Given the description of an element on the screen output the (x, y) to click on. 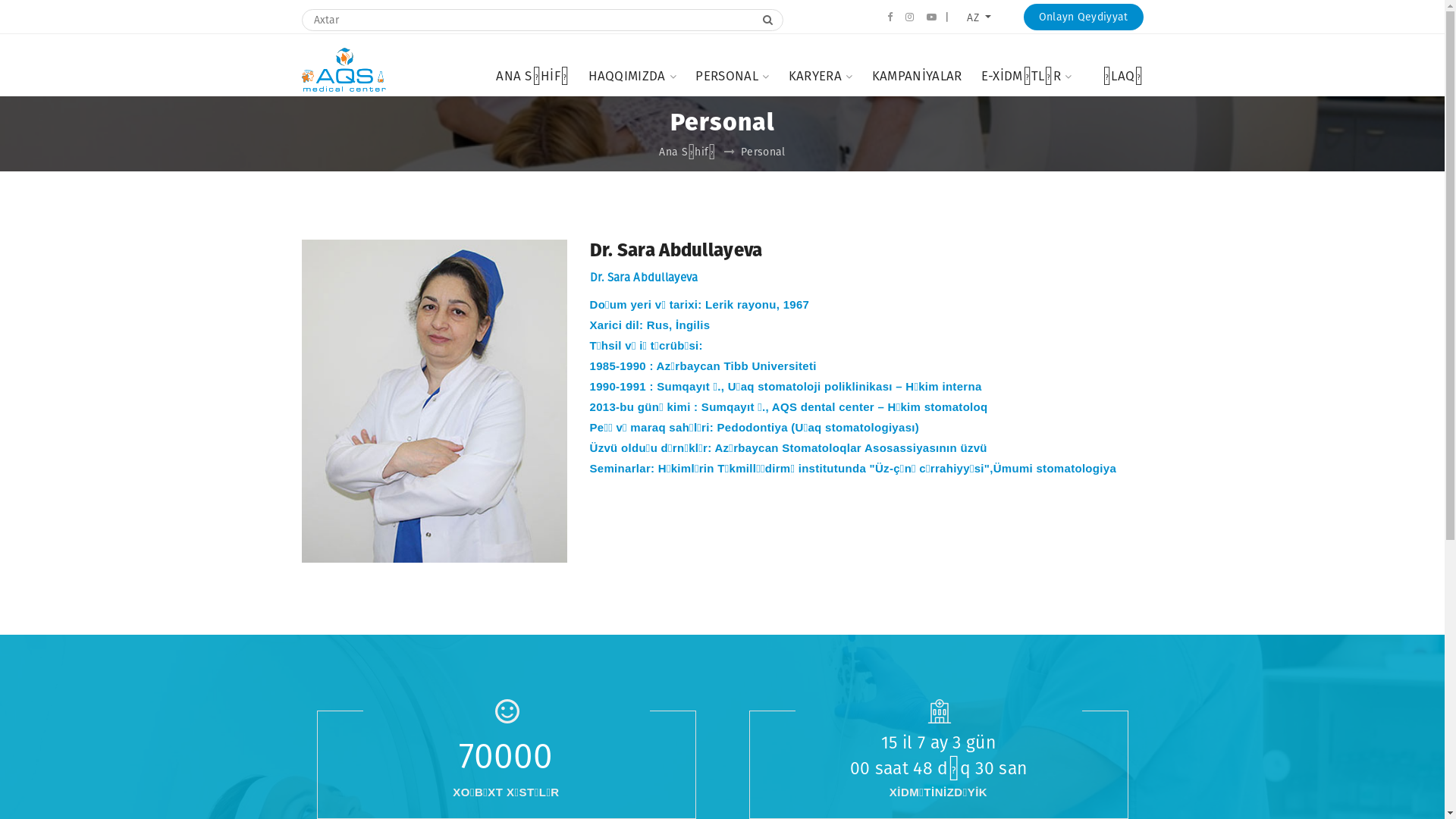
Onlayn Qeydiyyat Element type: text (1083, 16)
KARYERA Element type: text (820, 74)
AZ Element type: text (978, 18)
KAMPANIYALAR Element type: text (917, 74)
PERSONAL Element type: text (731, 74)
HAQQIMIZDA Element type: text (632, 74)
